Given the description of an element on the screen output the (x, y) to click on. 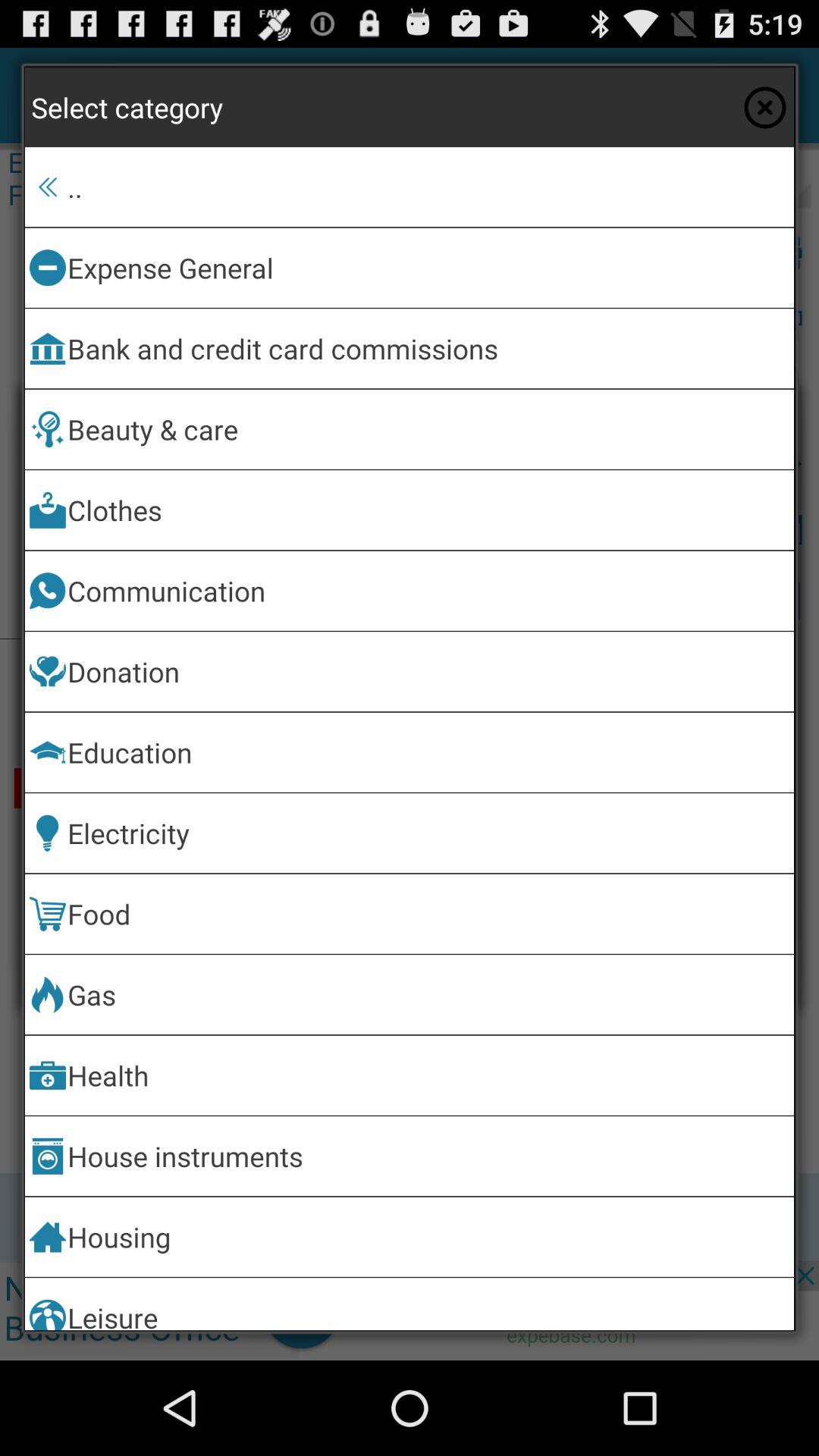
flip until the education item (427, 752)
